Given the description of an element on the screen output the (x, y) to click on. 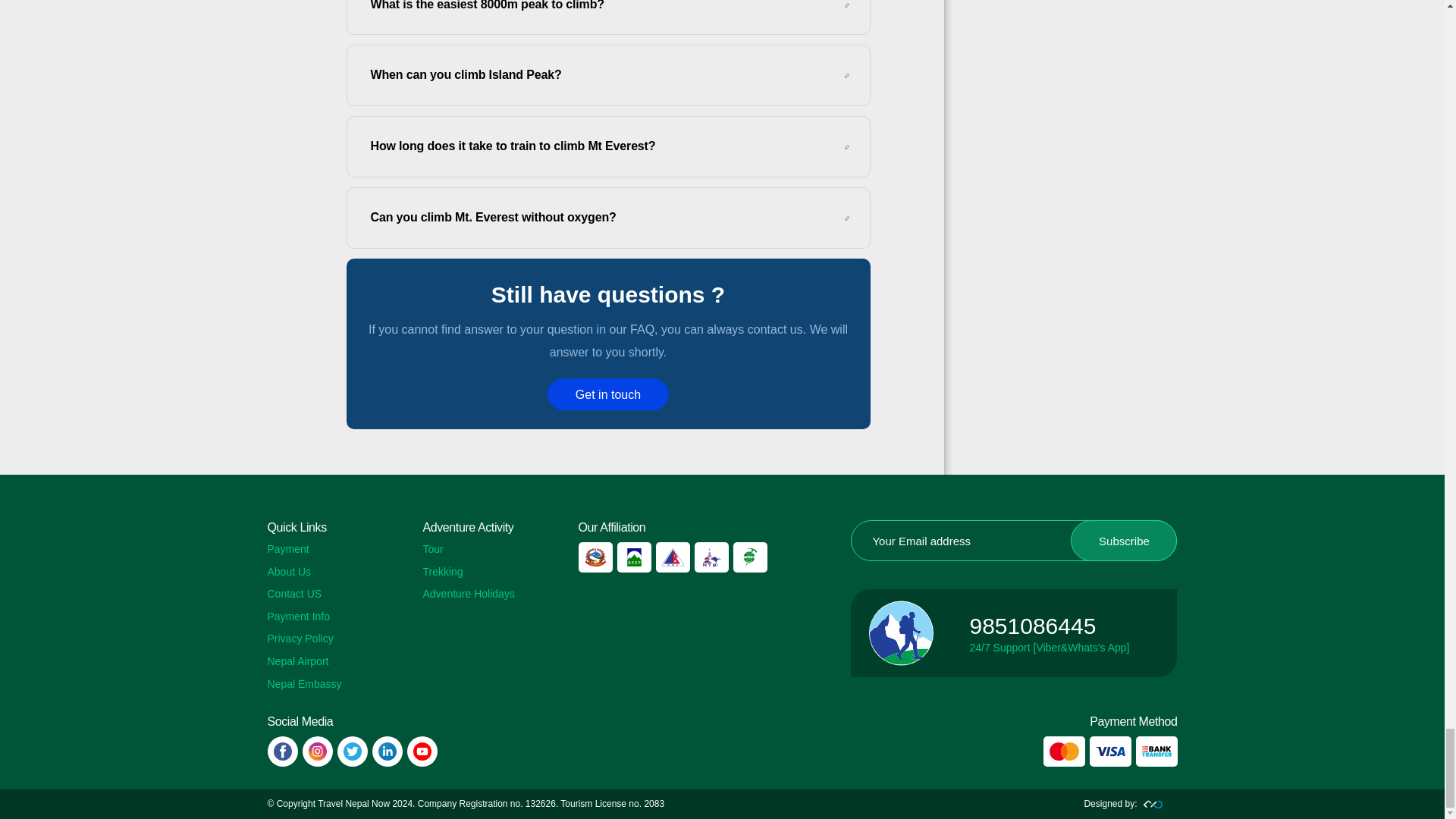
Subscribe (1123, 540)
Get in touch (607, 394)
Wishers Tech Pvt. Ltd. (1129, 804)
